Given the description of an element on the screen output the (x, y) to click on. 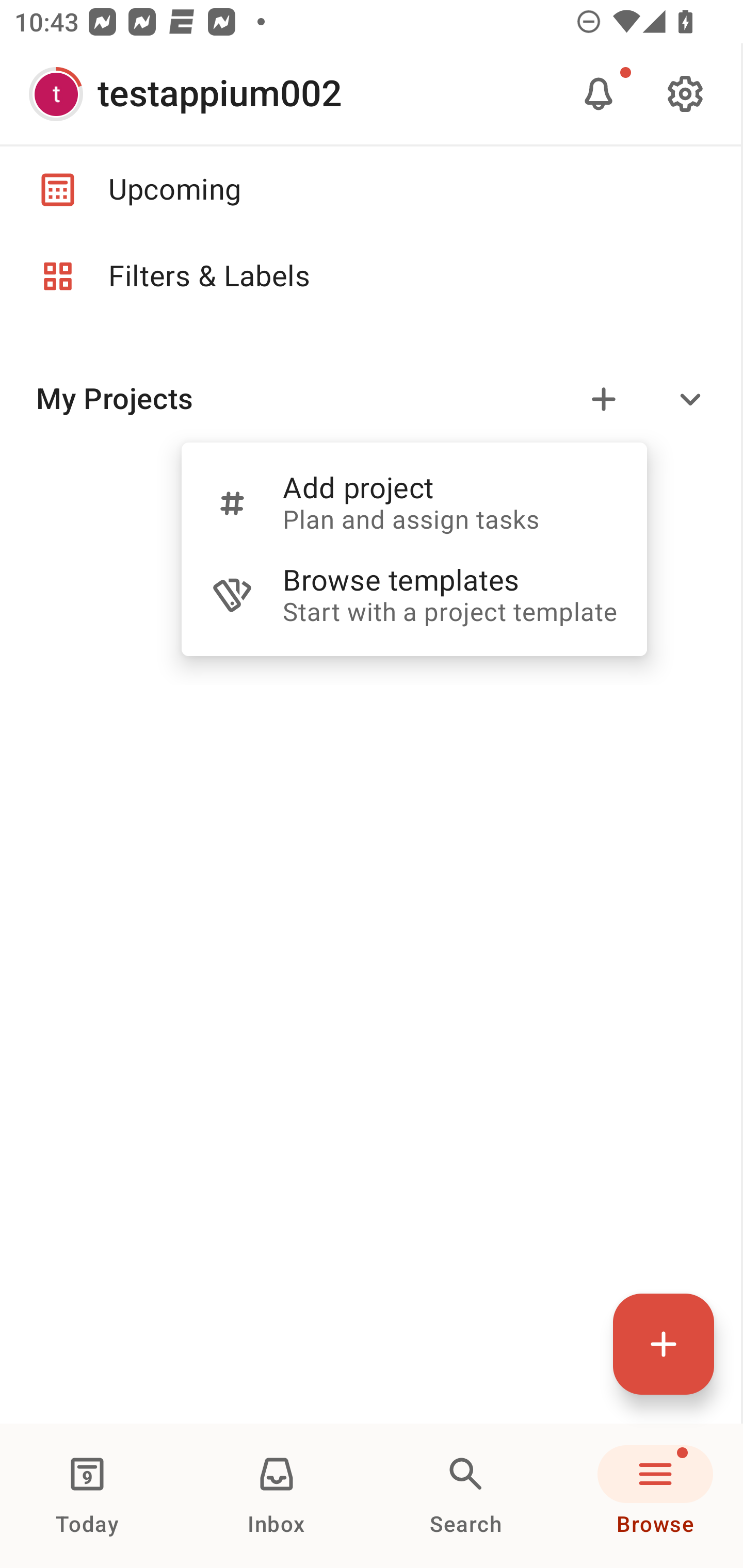
Add project Plan and assign tasks (414, 502)
Browse templates Start with a project template (414, 594)
